Given the description of an element on the screen output the (x, y) to click on. 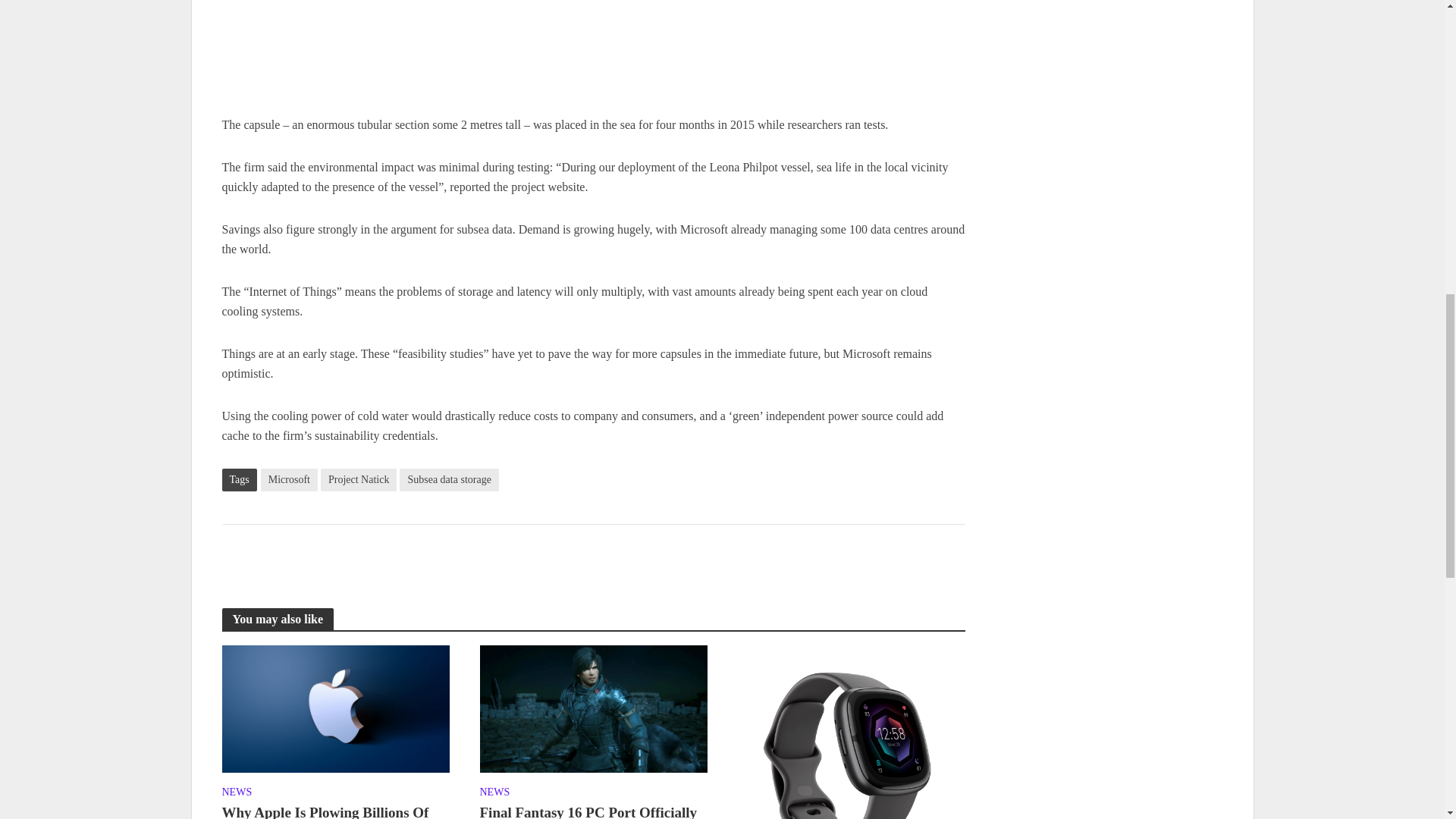
Subsea data storage (447, 479)
Project Natick (358, 479)
NEWS (236, 793)
Advertisement (592, 57)
NEWS (494, 793)
